Given the description of an element on the screen output the (x, y) to click on. 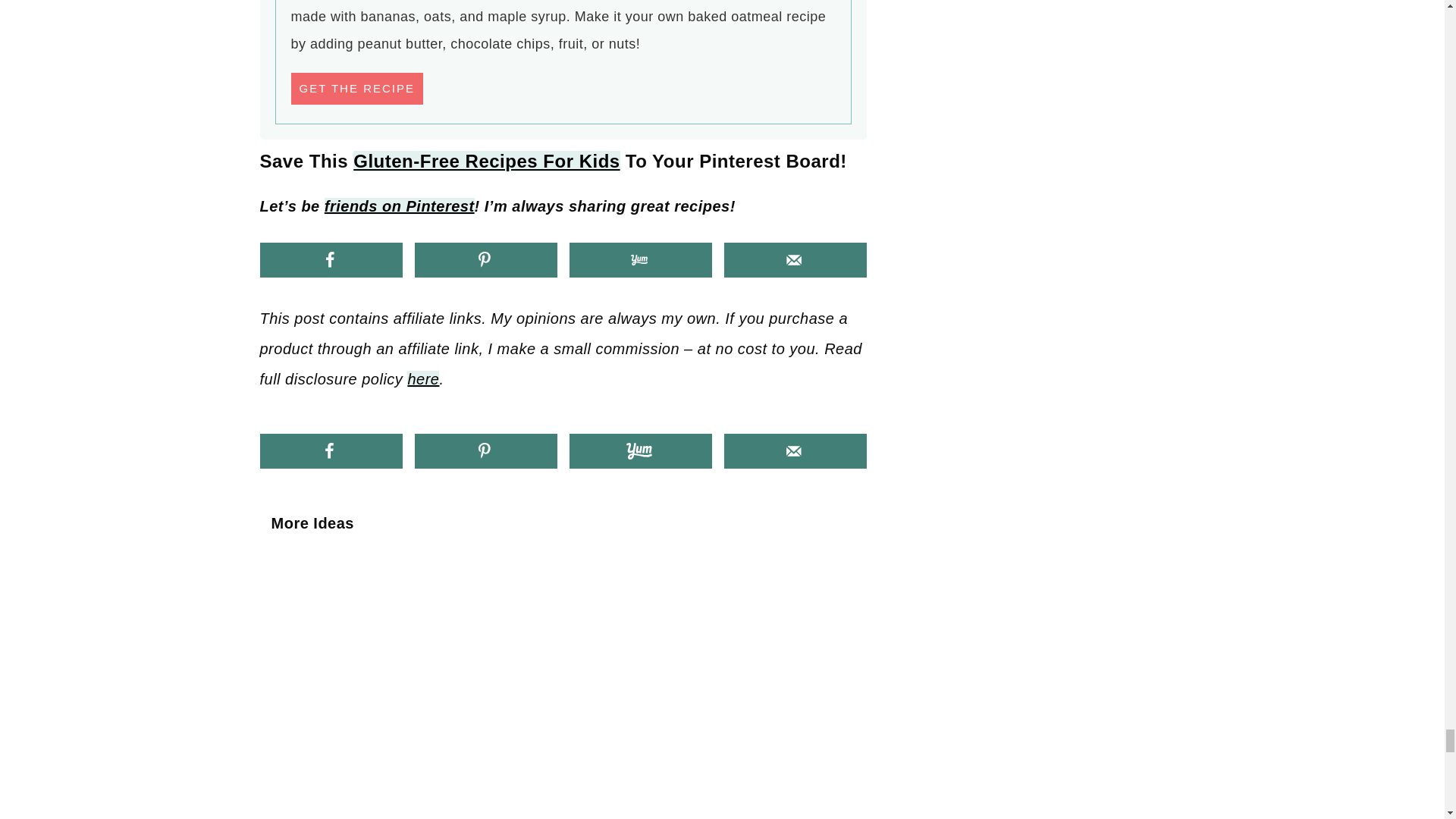
Send over email (794, 259)
Share on Yummly (640, 259)
Save to Pinterest (484, 451)
Save to Pinterest (484, 259)
Send over email (794, 451)
Share on Facebook (330, 259)
Share on Facebook (330, 451)
Share on Yummly (640, 451)
